Given the description of an element on the screen output the (x, y) to click on. 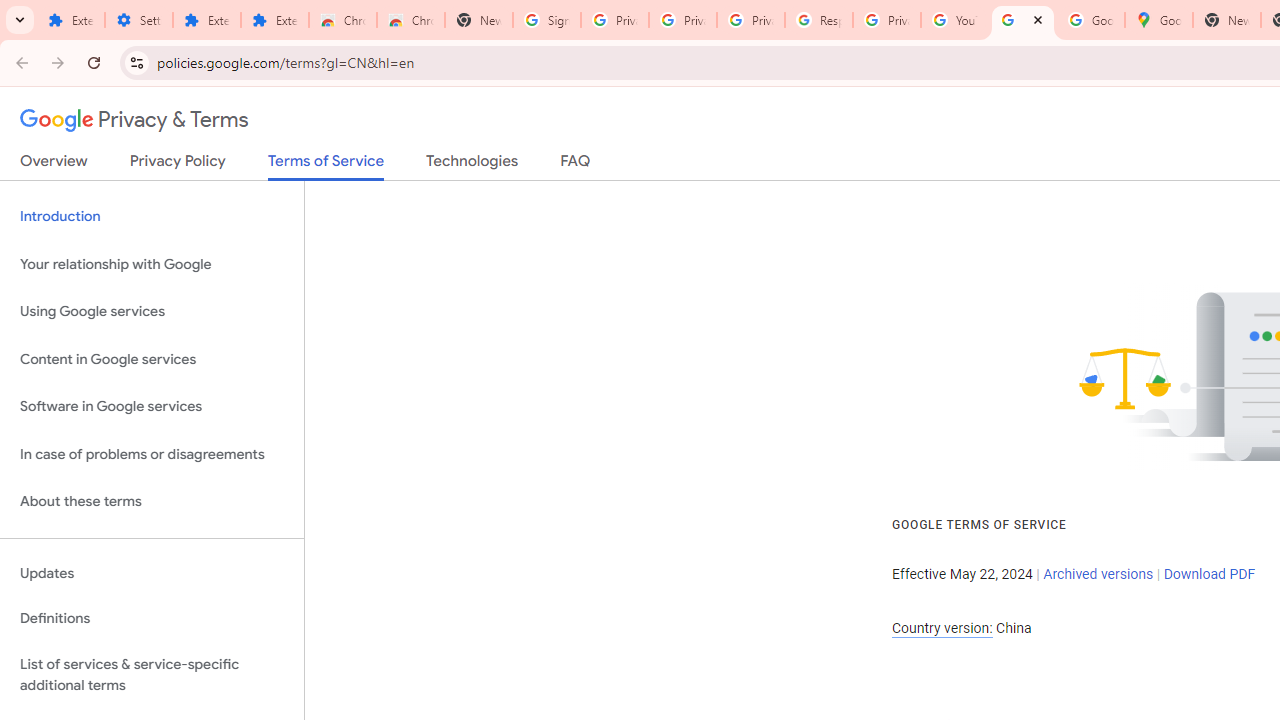
Content in Google services (152, 358)
New Tab (479, 20)
Extensions (70, 20)
Extensions (274, 20)
New Tab (1226, 20)
YouTube (954, 20)
